Given the description of an element on the screen output the (x, y) to click on. 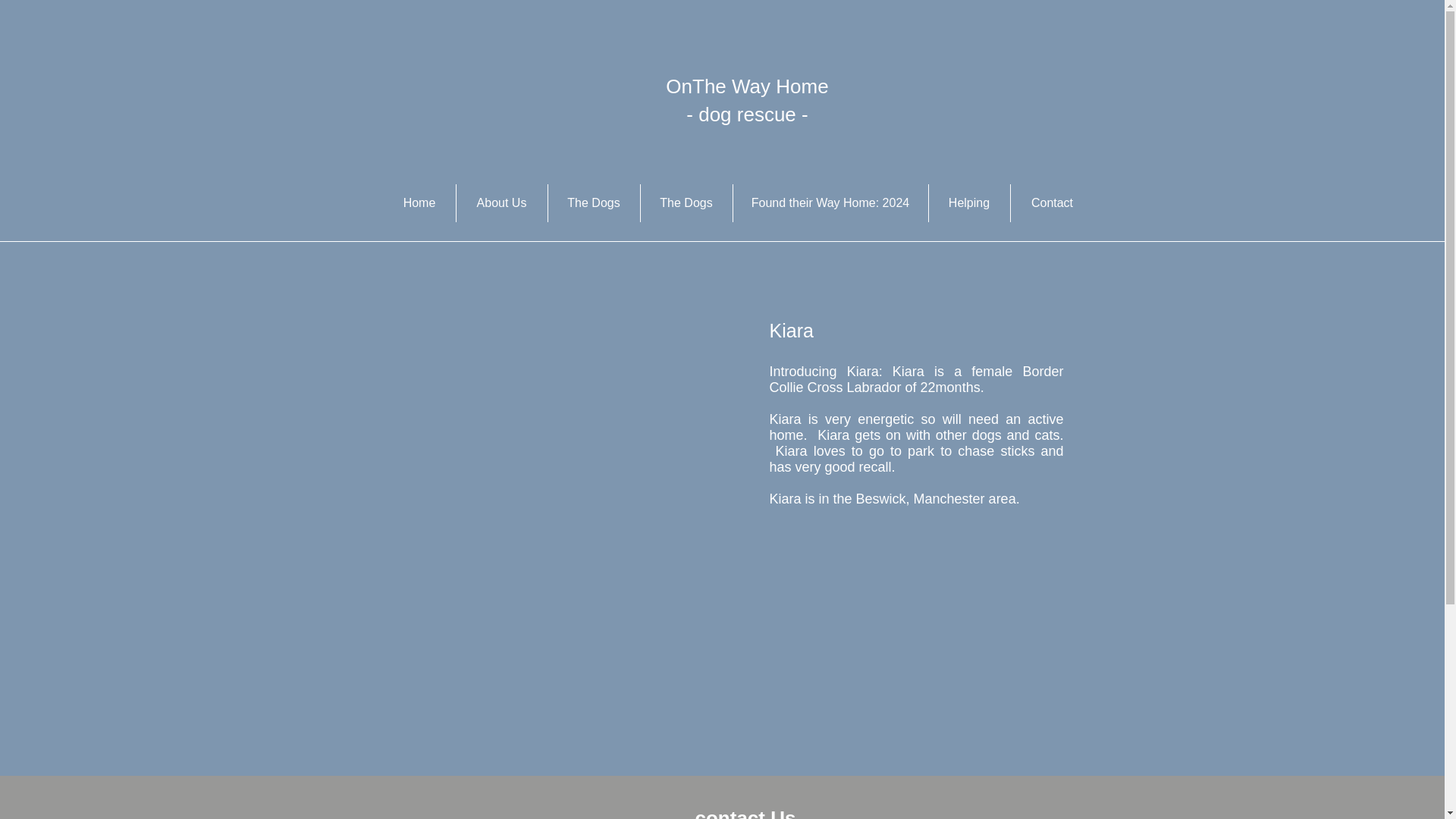
About Us (502, 202)
- dog rescue - (746, 114)
OnThe Way Home (746, 86)
The Dogs (593, 202)
The Dogs (686, 202)
Home (419, 202)
